Given the description of an element on the screen output the (x, y) to click on. 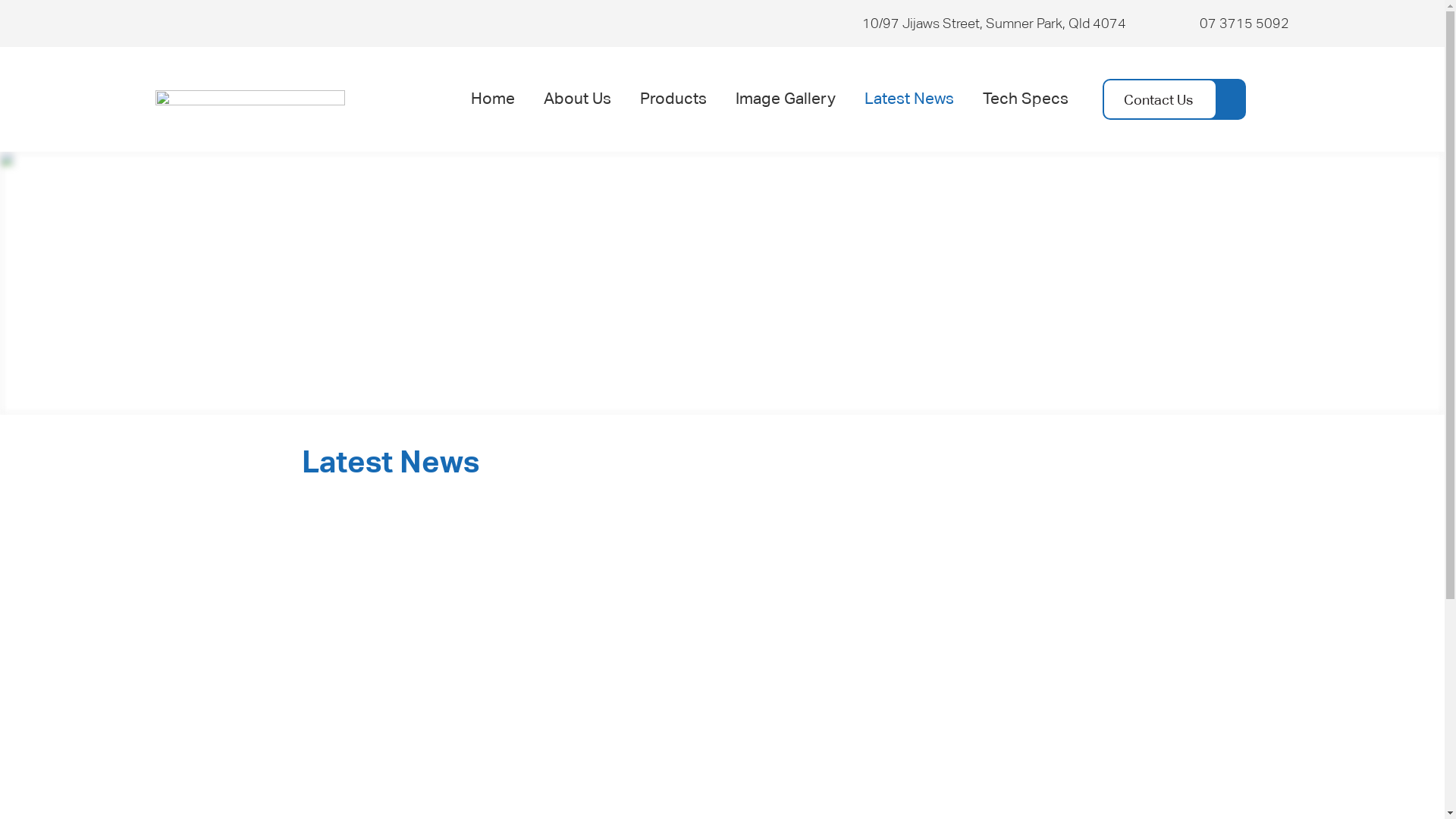
Products Element type: text (673, 98)
Tech Specs Element type: text (1025, 98)
Image Gallery Element type: text (785, 98)
Latest News Element type: text (909, 98)
About Us Element type: text (577, 98)
Contact Us Element type: text (1159, 98)
07 3715 5092 Element type: text (1244, 23)
Home Element type: text (492, 98)
